Given the description of an element on the screen output the (x, y) to click on. 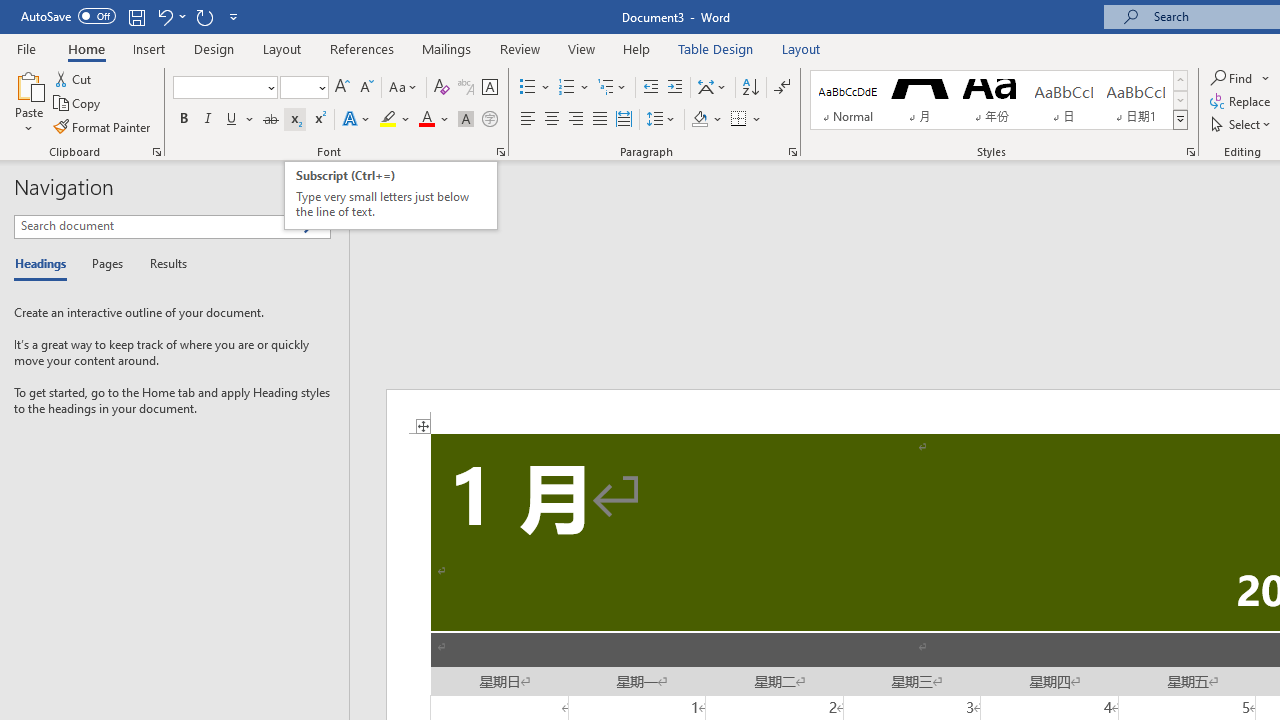
Font Color (434, 119)
Pages (105, 264)
Shrink Font (365, 87)
Styles... (1190, 151)
Font Color RGB(255, 0, 0) (426, 119)
